Given the description of an element on the screen output the (x, y) to click on. 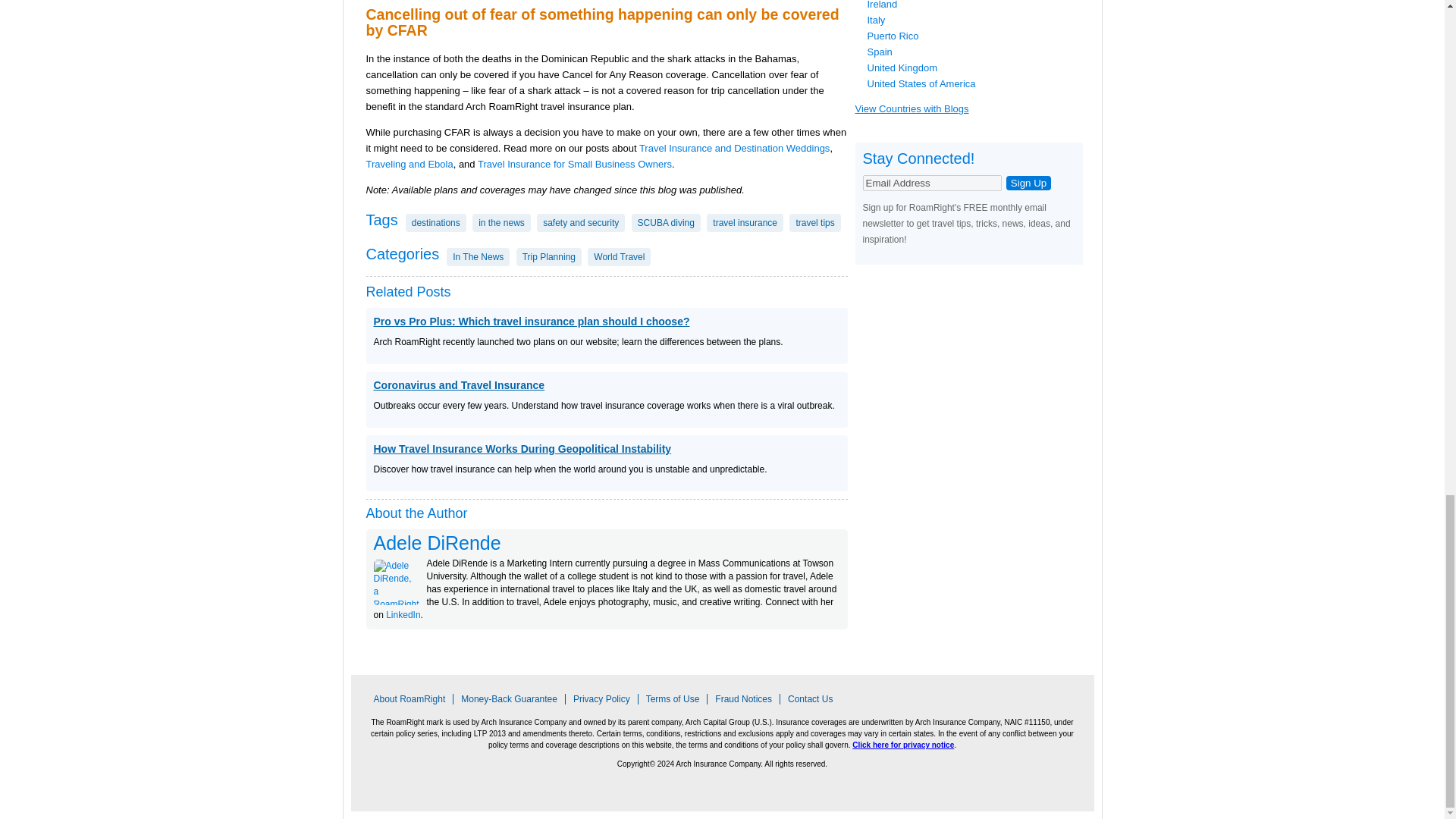
Travel Insurance for Small Business Owners (574, 163)
LinkedIn (402, 614)
destinations (435, 222)
safety and security (580, 222)
Traveling and Ebola (408, 163)
In The News (477, 257)
Traveling and Ebola (408, 163)
Email Address (932, 182)
travel insurance (744, 222)
